Given the description of an element on the screen output the (x, y) to click on. 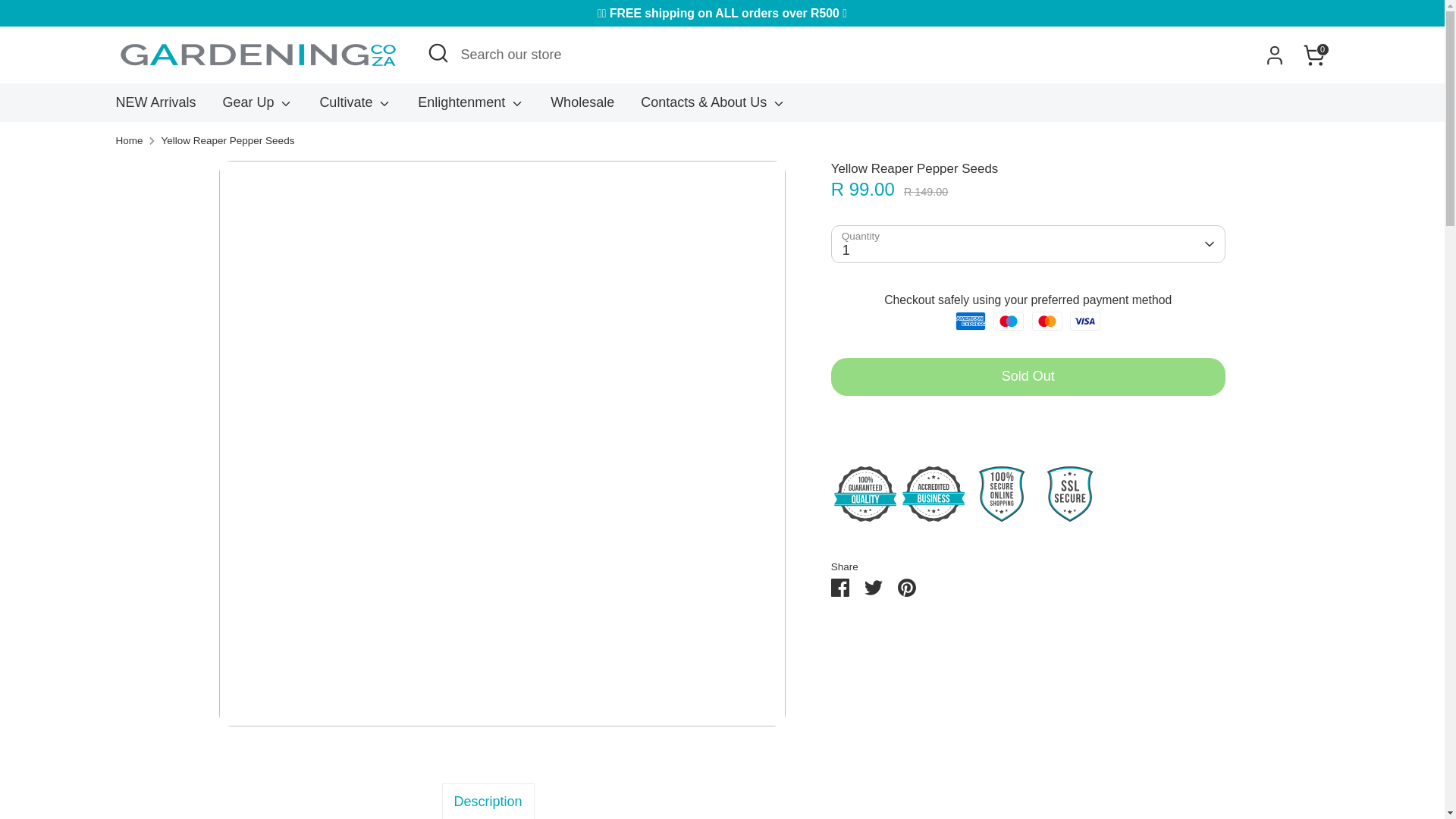
0 (1312, 55)
